Given the description of an element on the screen output the (x, y) to click on. 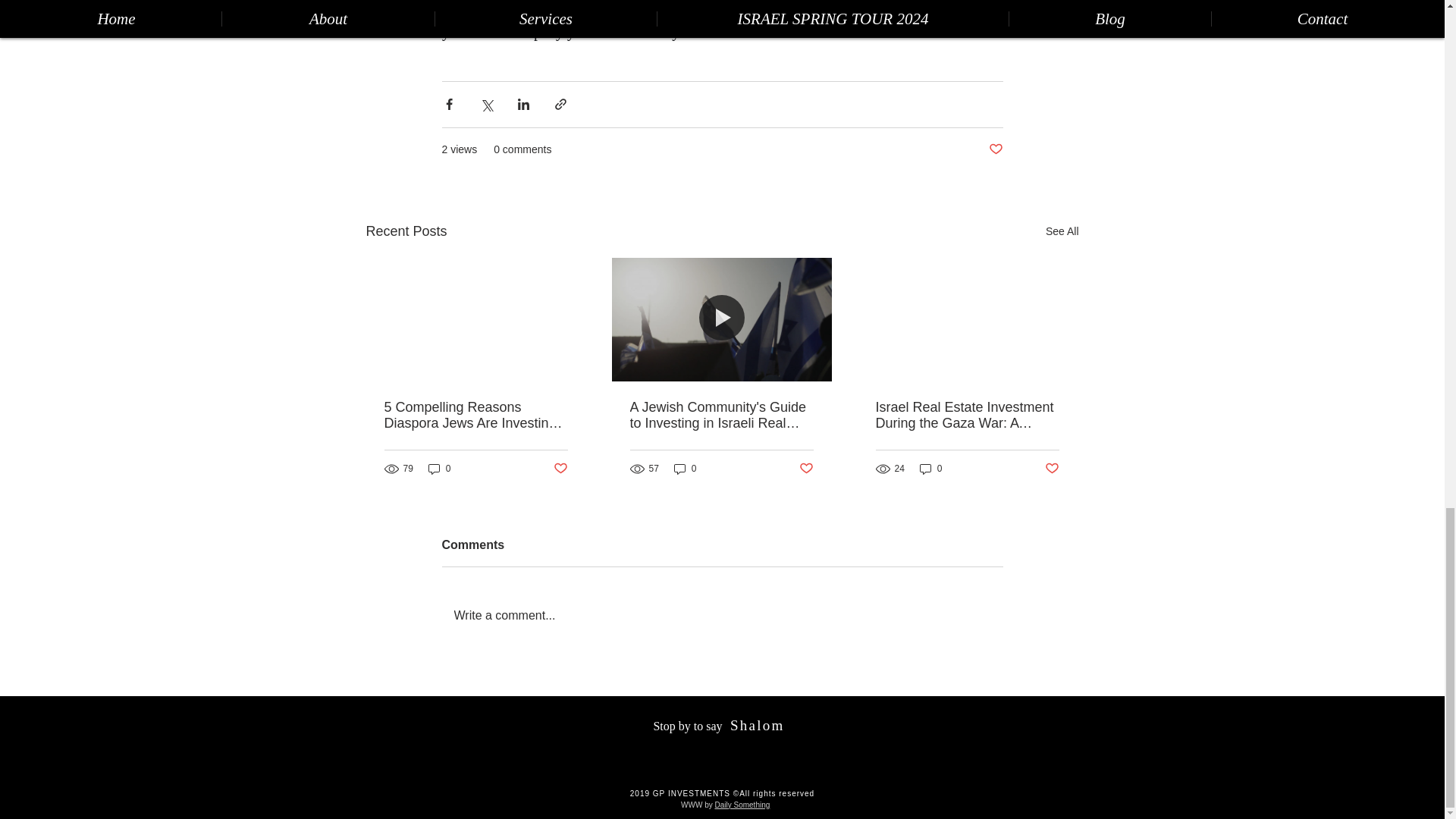
0 (685, 468)
Post not marked as liked (1052, 468)
0 (439, 468)
See All (1061, 231)
Write a comment... (722, 615)
Post not marked as liked (995, 149)
0 (930, 468)
Daily Something (742, 804)
Post not marked as liked (560, 468)
Post not marked as liked (806, 468)
